Given the description of an element on the screen output the (x, y) to click on. 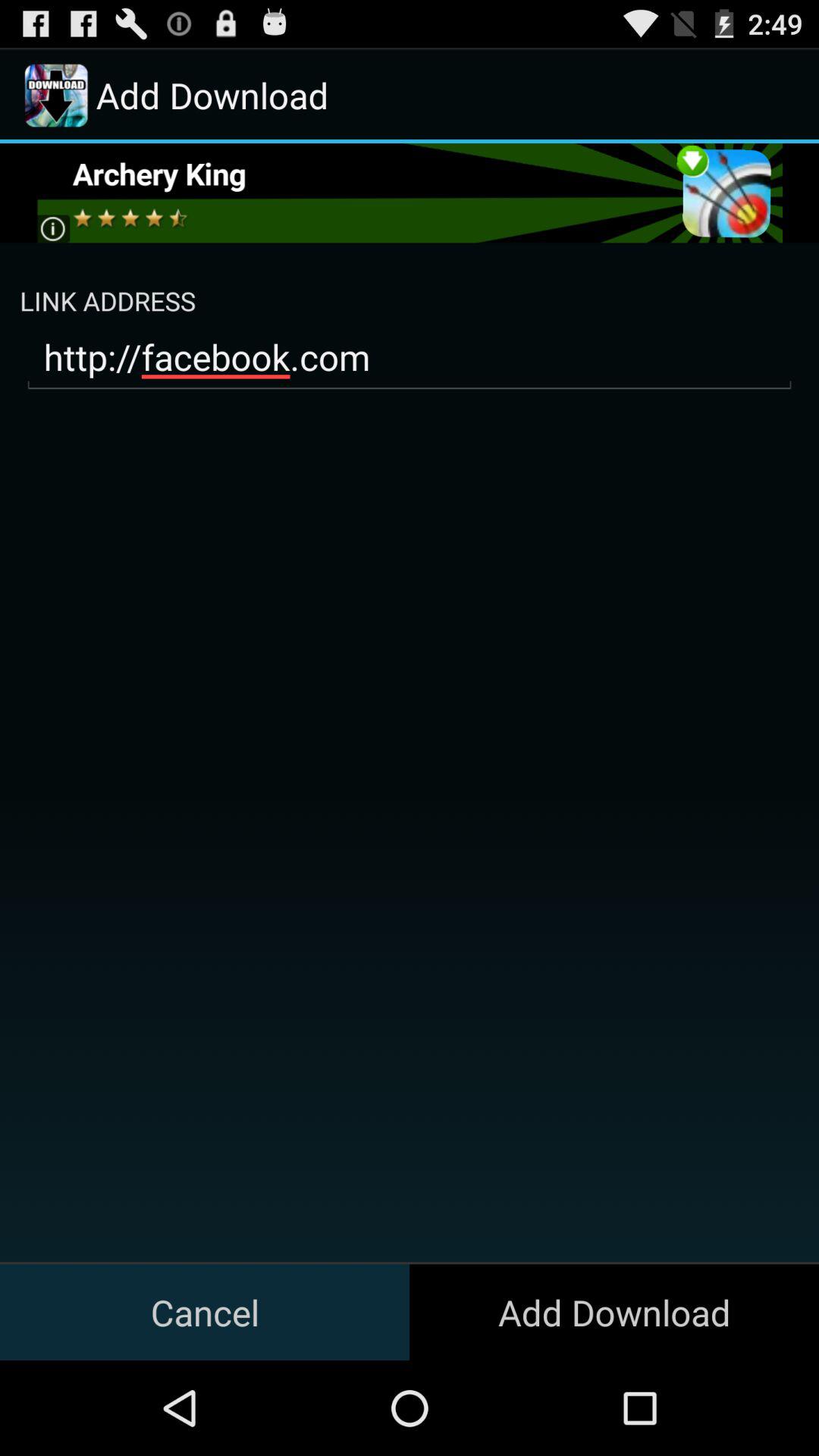
download archery king (408, 192)
